Given the description of an element on the screen output the (x, y) to click on. 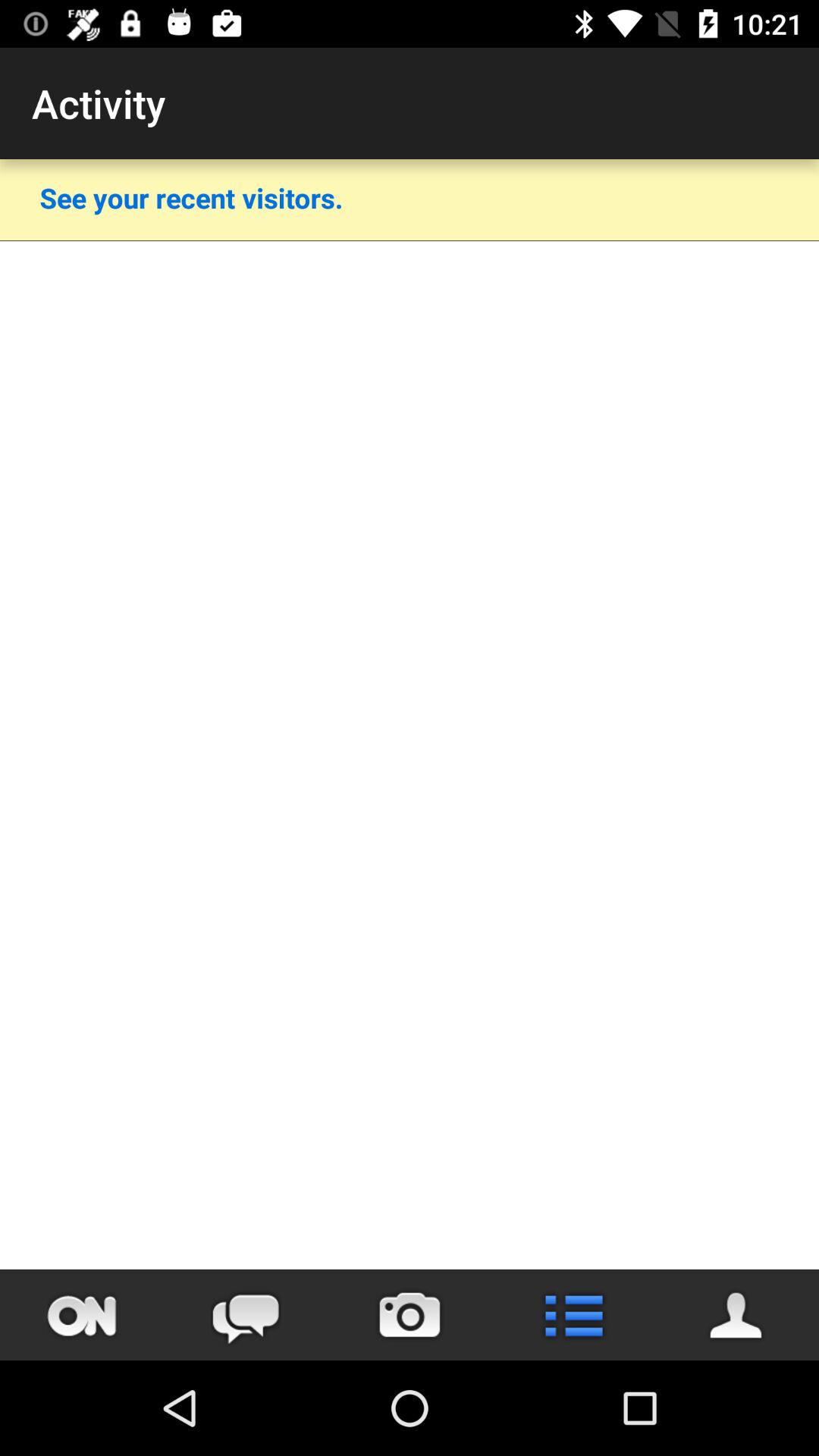
open menu (573, 1315)
